Given the description of an element on the screen output the (x, y) to click on. 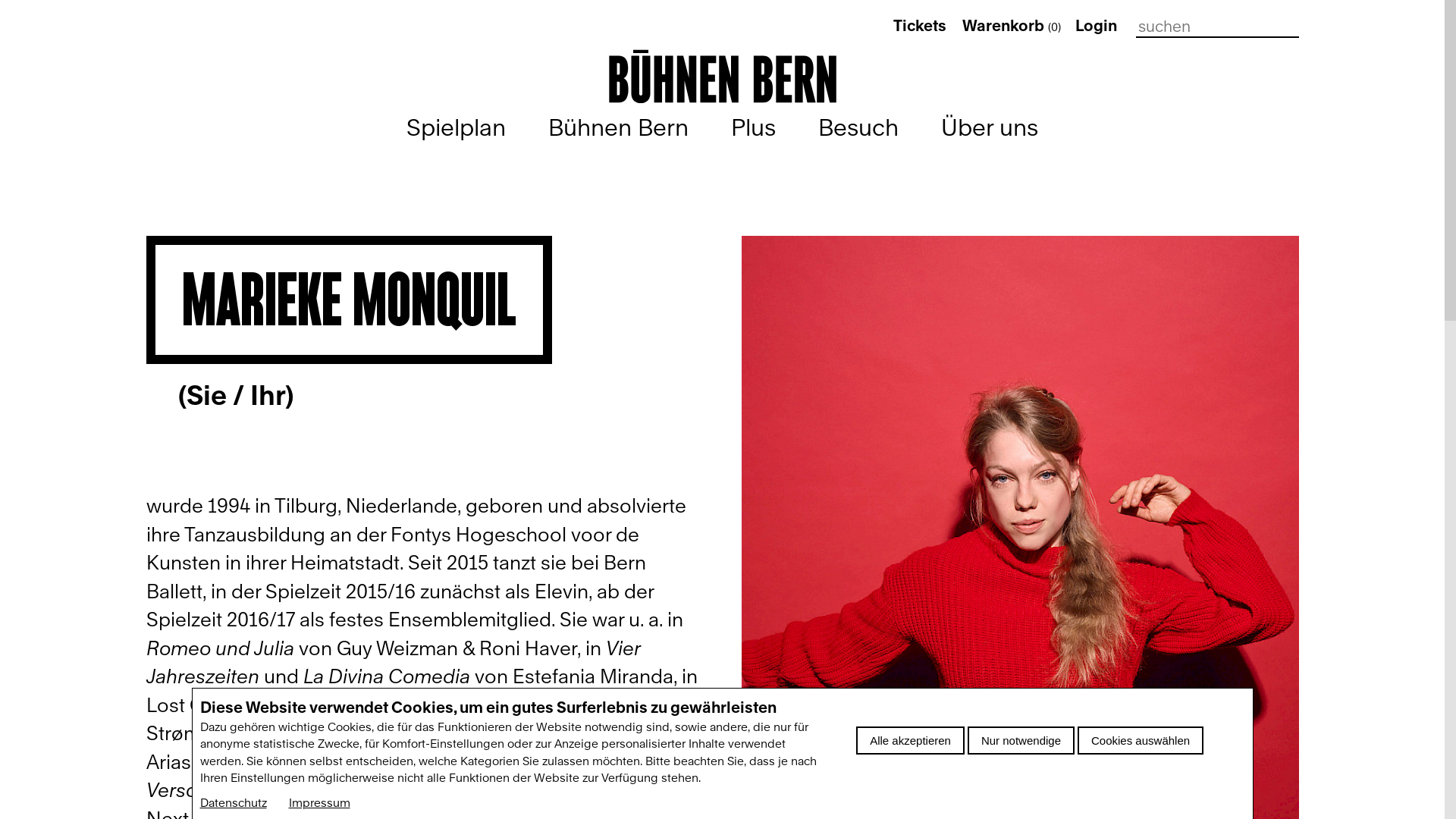
Tickets Element type: text (919, 25)
Besuch Element type: text (858, 127)
Alle akzeptieren Element type: text (910, 740)
Nur notwendige Element type: text (1020, 740)
Plus Element type: text (753, 127)
Impressum Element type: text (318, 802)
Spielplan Element type: text (455, 127)
Datenschutz Element type: text (233, 802)
Warenkorb(0) Element type: text (1012, 25)
Login Element type: text (1096, 25)
